Given the description of an element on the screen output the (x, y) to click on. 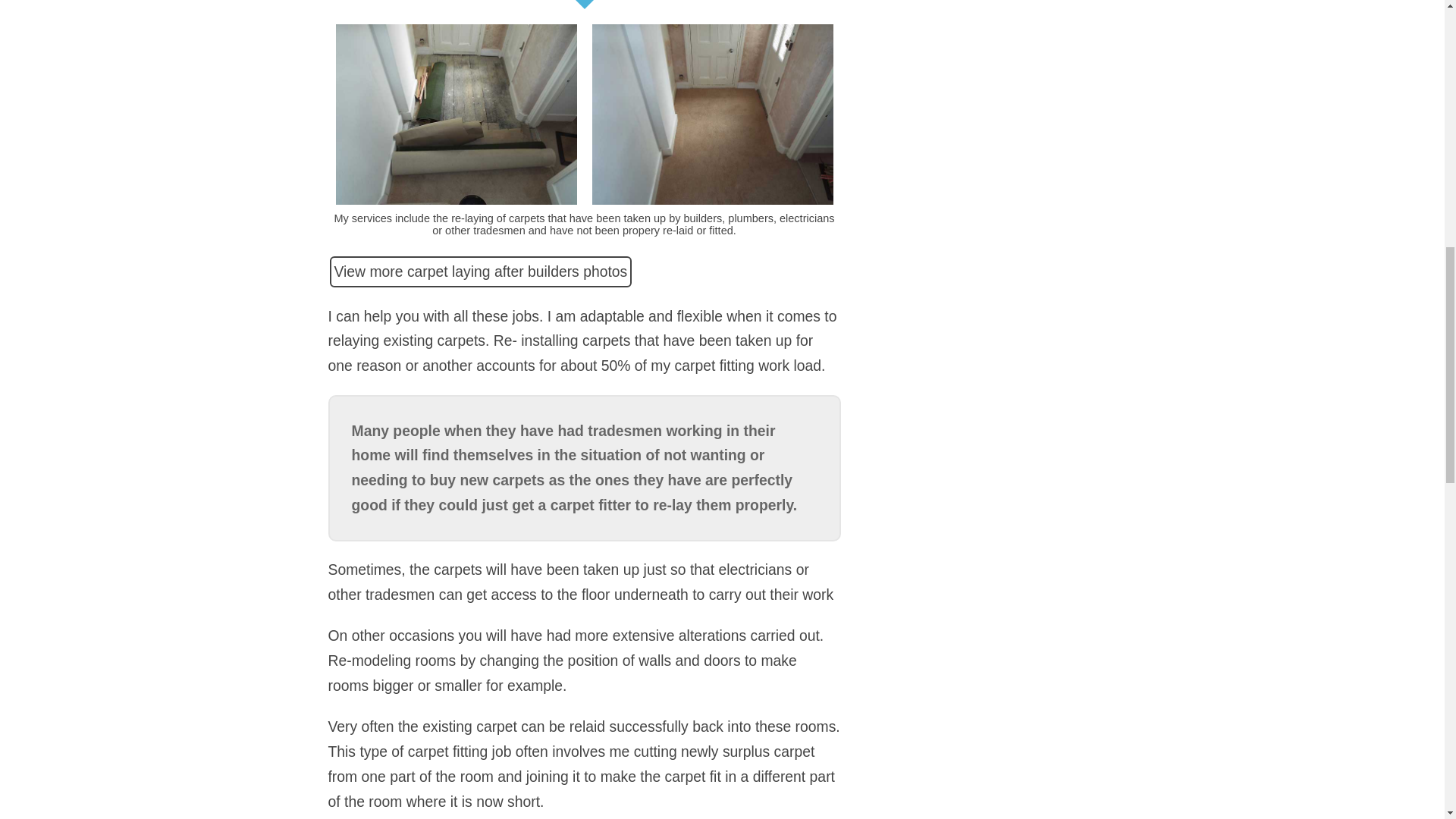
View more carpet laying after builders photos (480, 271)
